Given the description of an element on the screen output the (x, y) to click on. 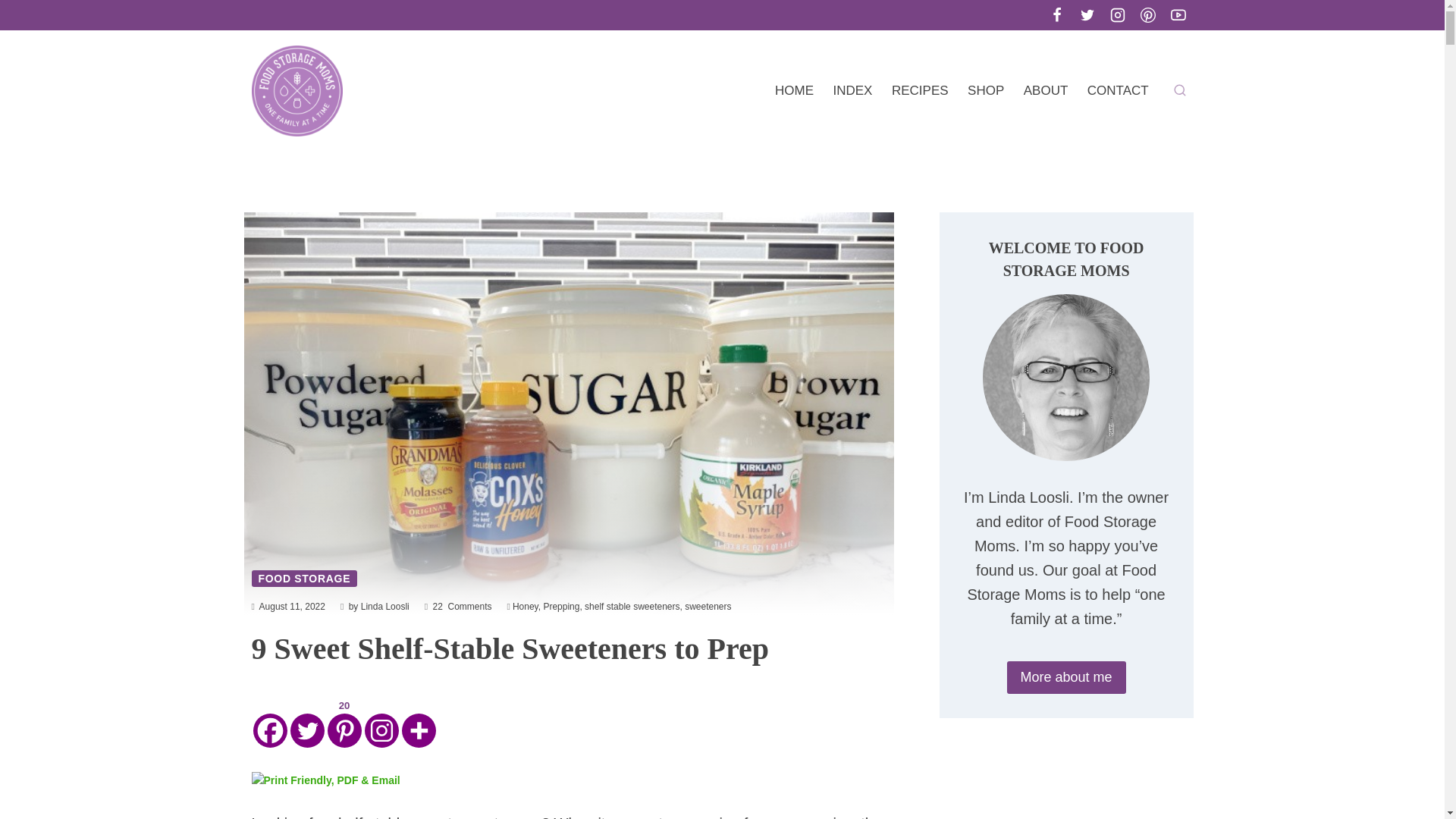
Instagram (380, 722)
sweeteners (707, 605)
SHOP (985, 90)
More (418, 722)
Twitter (306, 722)
Pinterest (344, 722)
Comments (468, 605)
Facebook (269, 722)
shelf stable sweeteners (632, 605)
RECIPES (920, 90)
CONTACT (1117, 90)
Comments (468, 605)
FOOD STORAGE (304, 578)
Prepping (561, 605)
ABOUT (1045, 90)
